Given the description of an element on the screen output the (x, y) to click on. 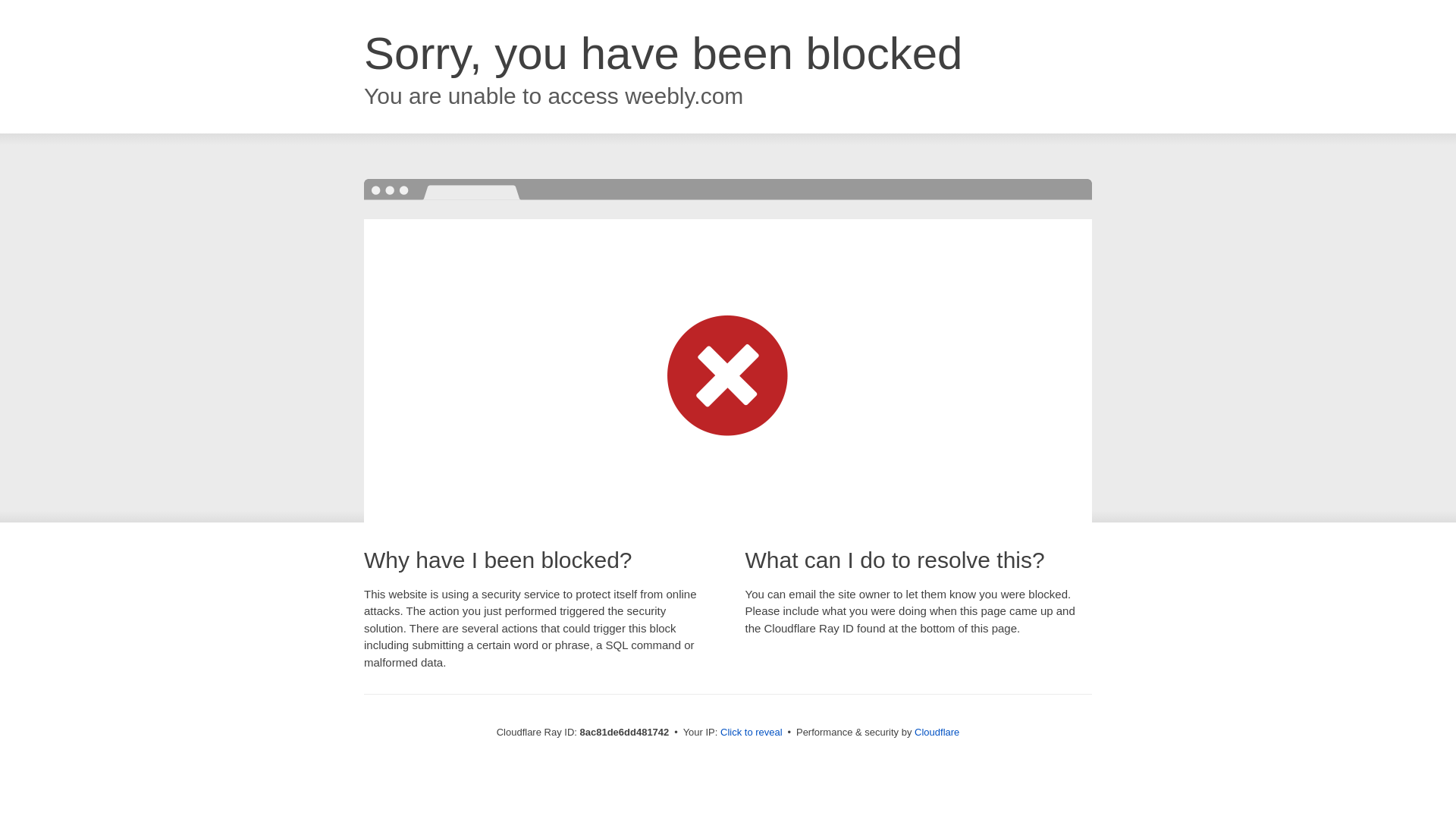
Click to reveal (751, 732)
Cloudflare (936, 731)
